Given the description of an element on the screen output the (x, y) to click on. 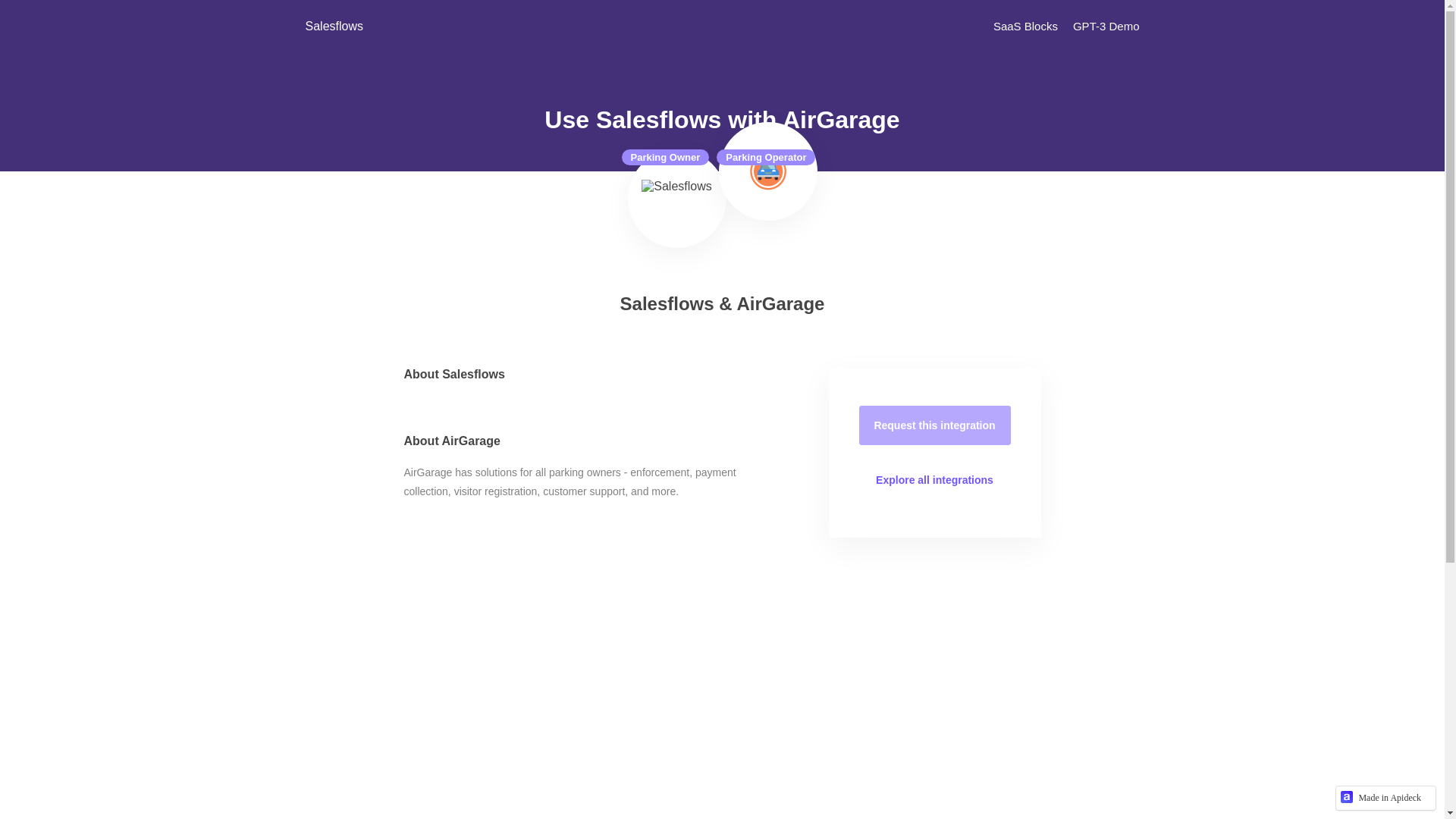
Salesflows (676, 198)
AirGarage (768, 171)
Salesflows (433, 26)
GPT-3 Demo (1106, 25)
SaaS Blocks (1025, 25)
Explore all integrations (934, 479)
Request this integration (934, 425)
